Given the description of an element on the screen output the (x, y) to click on. 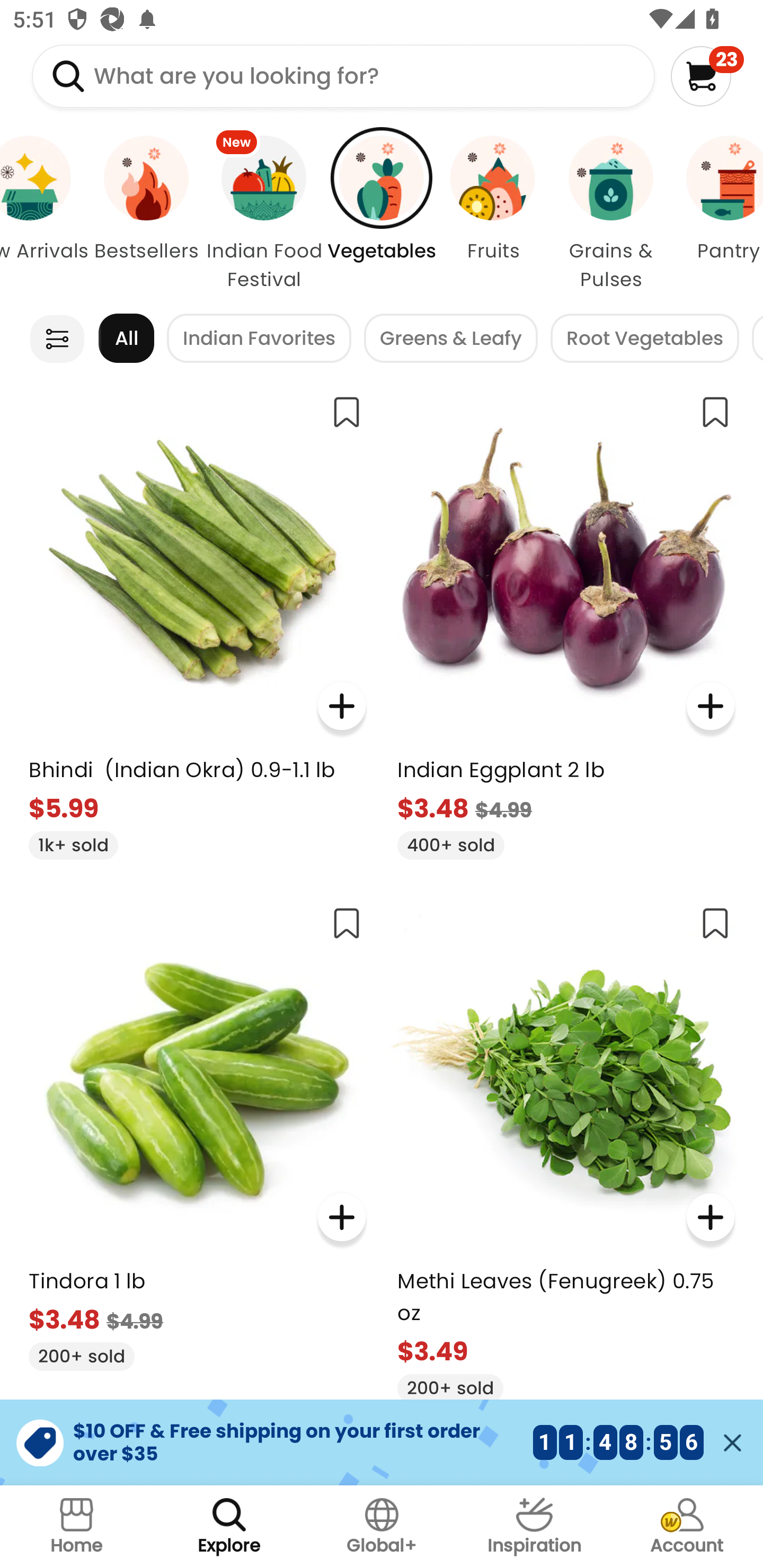
What are you looking for? (343, 75)
23 (706, 75)
New Arrivals (45, 214)
Bestsellers (146, 214)
New Indian Food Festival (263, 214)
Vegetables (381, 214)
Fruits (492, 214)
Grains & Pulses (610, 214)
Pantry (717, 214)
All (126, 337)
Indian Favorites (258, 337)
Greens & Leafy (450, 337)
Root Vegetables (644, 337)
Bhindi  (Indian Okra) 0.9-1.1 lb $5.99 1k+ sold (197, 620)
Indian Eggplant 2 lb $3.48 $4.99 400+ sold (565, 620)
Tindora 1 lb $3.48 $4.99 200+ sold (197, 1131)
Methi Leaves (Fenugreek) 0.75 oz $3.49 200+ sold (565, 1147)
Home (76, 1526)
Explore (228, 1526)
Global+ (381, 1526)
Inspiration (533, 1526)
Account (686, 1526)
